Given the description of an element on the screen output the (x, y) to click on. 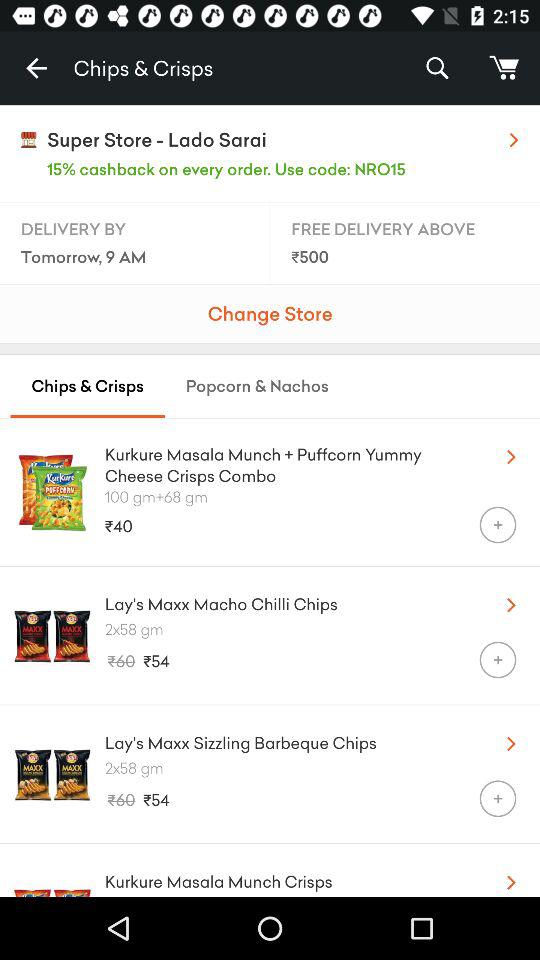
click item next to the chips & crisps item (36, 68)
